Given the description of an element on the screen output the (x, y) to click on. 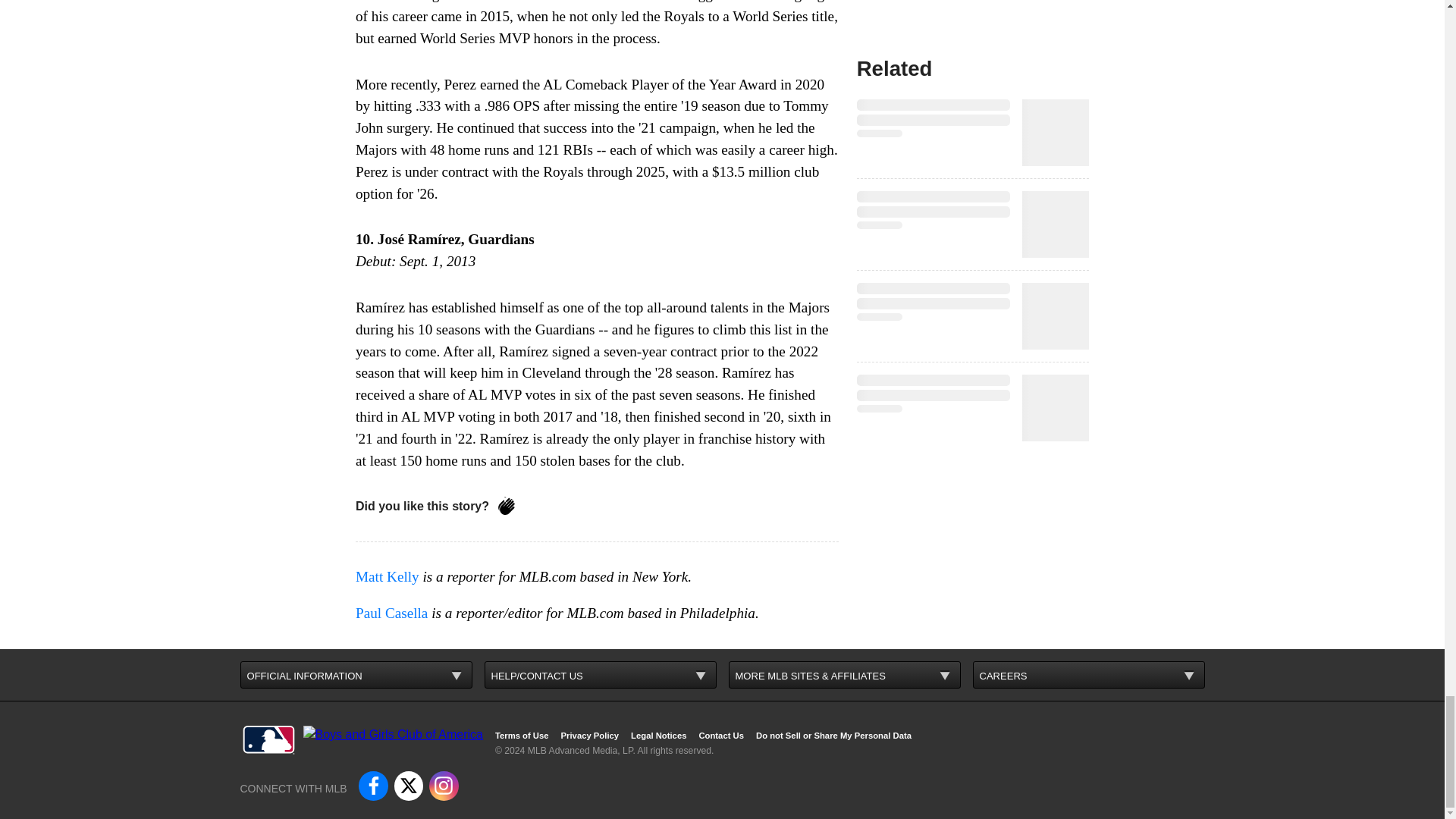
OFFICIAL INFORMATION (355, 674)
CAREERS (1088, 674)
Follow on instagram (443, 785)
Follow on facebook (372, 785)
Follow on twitter (408, 785)
